Given the description of an element on the screen output the (x, y) to click on. 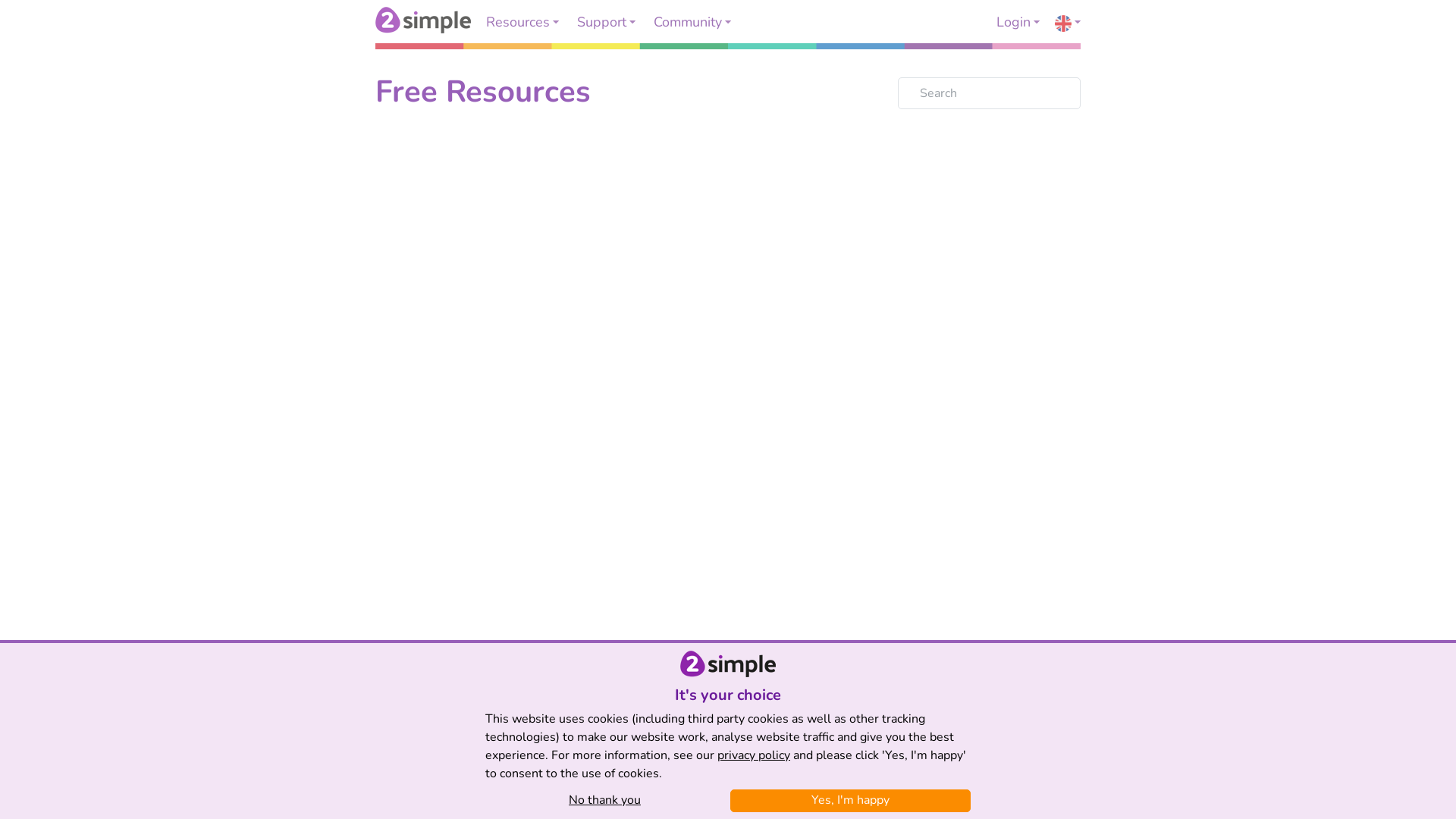
Data Processing Agreement Element type: text (878, 793)
hello@2simple.com Element type: text (727, 725)
privacy policy Element type: text (753, 754)
Free Resources Element type: text (482, 91)
Website Terms Element type: text (666, 793)
Product Terms Element type: text (574, 793)
Support Element type: text (606, 21)
Community Element type: text (692, 21)
Yes, I'm happy Element type: text (850, 799)
Privacy Notice Element type: text (757, 793)
No thank you Element type: text (604, 799)
Resources Element type: text (522, 21)
Login Element type: text (1017, 21)
